Given the description of an element on the screen output the (x, y) to click on. 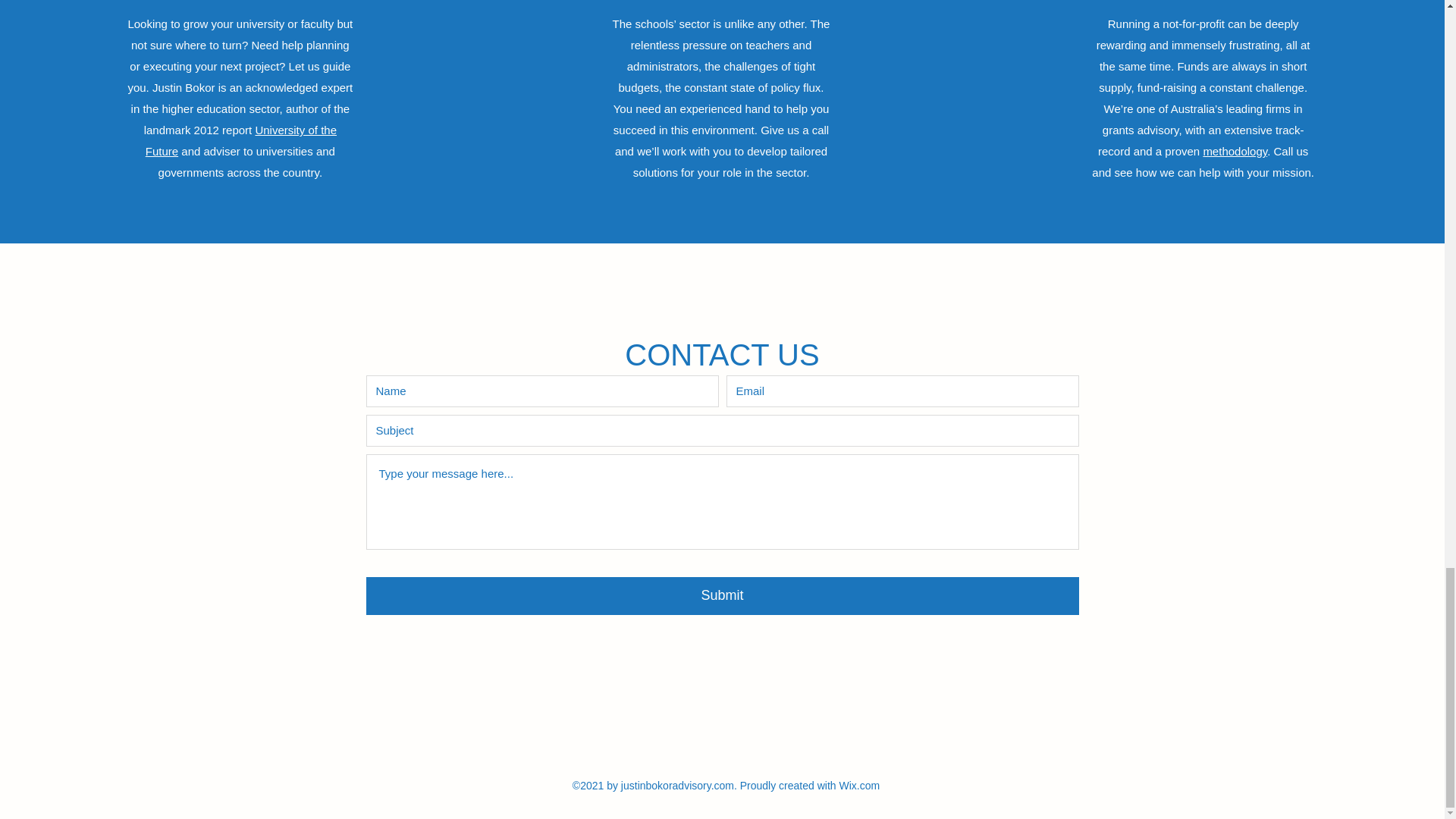
Submit (721, 596)
methodology (1234, 151)
University of the Future (240, 140)
